Given the description of an element on the screen output the (x, y) to click on. 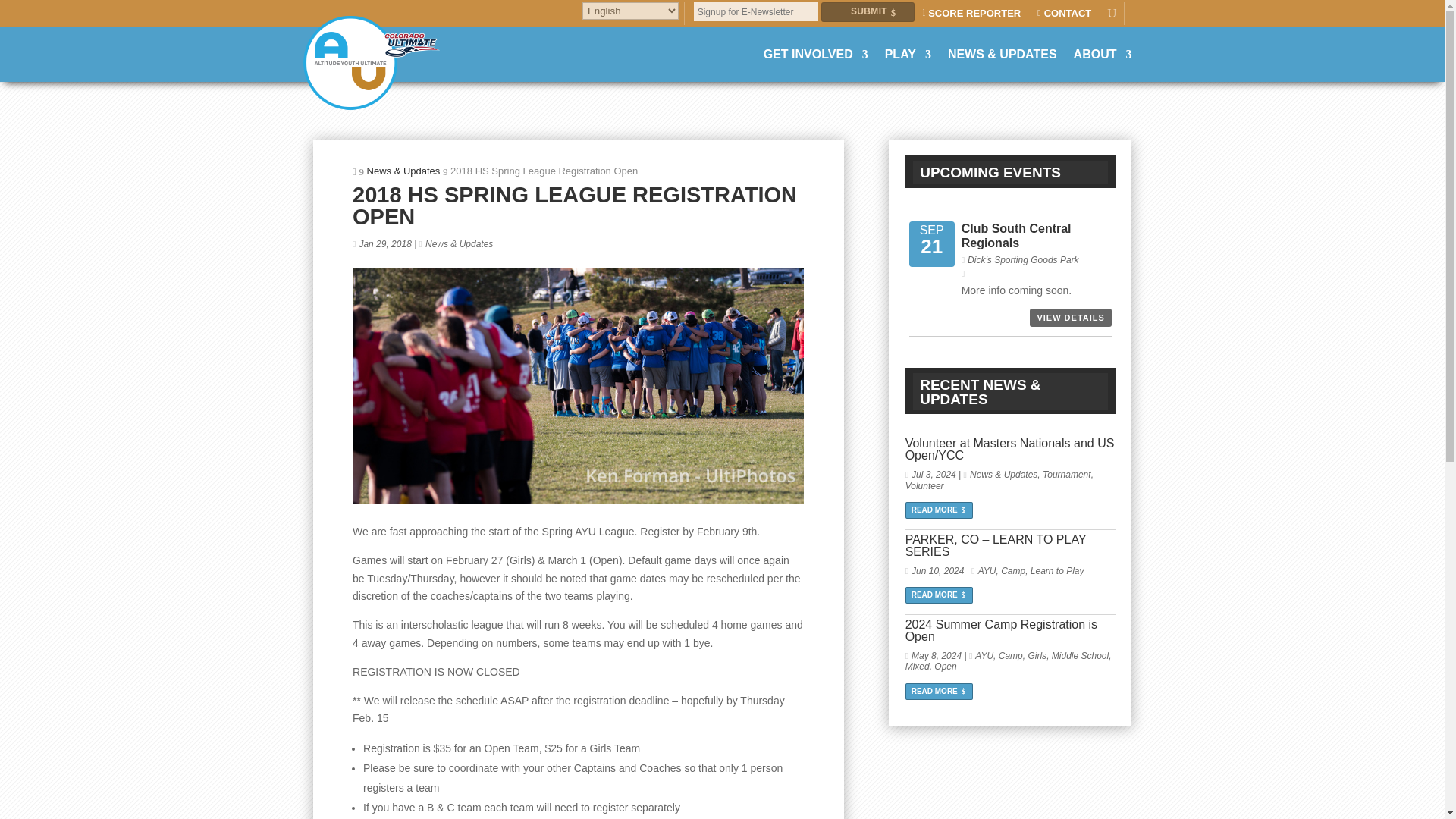
PLAY (908, 54)
GET INVOLVED (814, 54)
CONTACT (1067, 16)
SUBMIT (867, 12)
SCORE REPORTER (974, 16)
ABOUT (1103, 54)
